Given the description of an element on the screen output the (x, y) to click on. 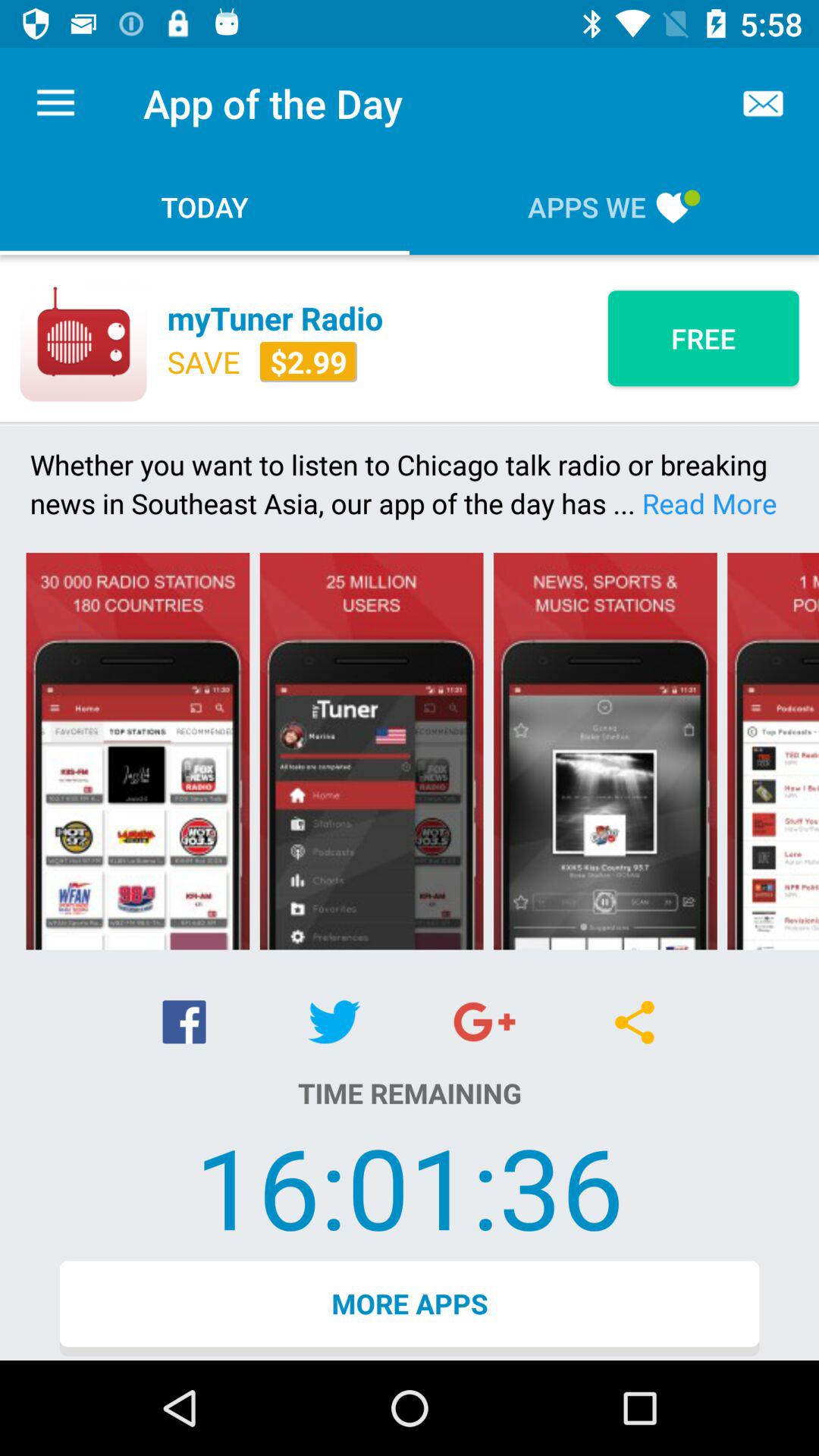
click item to the left of the app of the icon (55, 103)
